Given the description of an element on the screen output the (x, y) to click on. 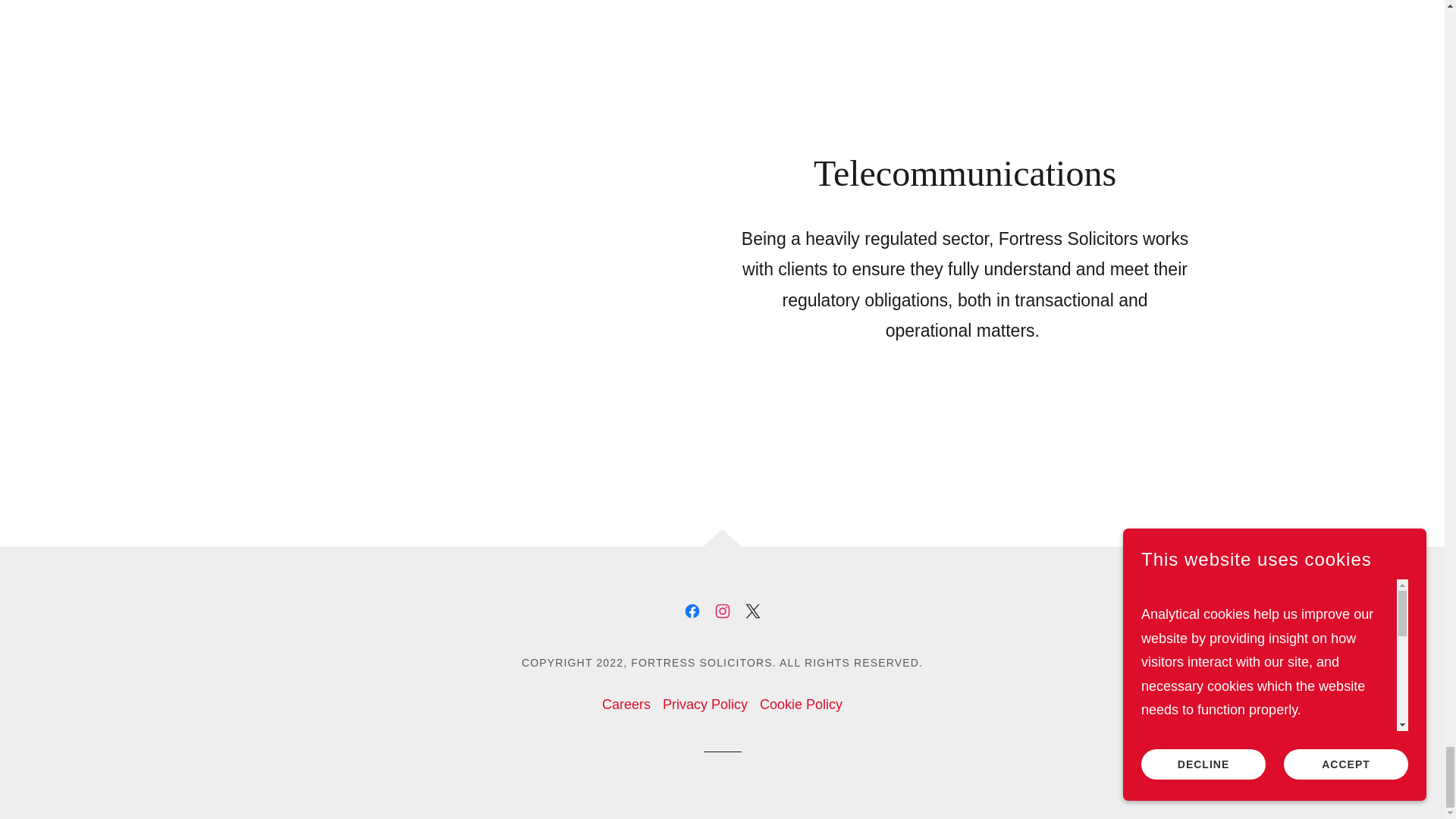
Cookie Policy (801, 704)
Privacy Policy (705, 704)
Careers (625, 704)
